Given the description of an element on the screen output the (x, y) to click on. 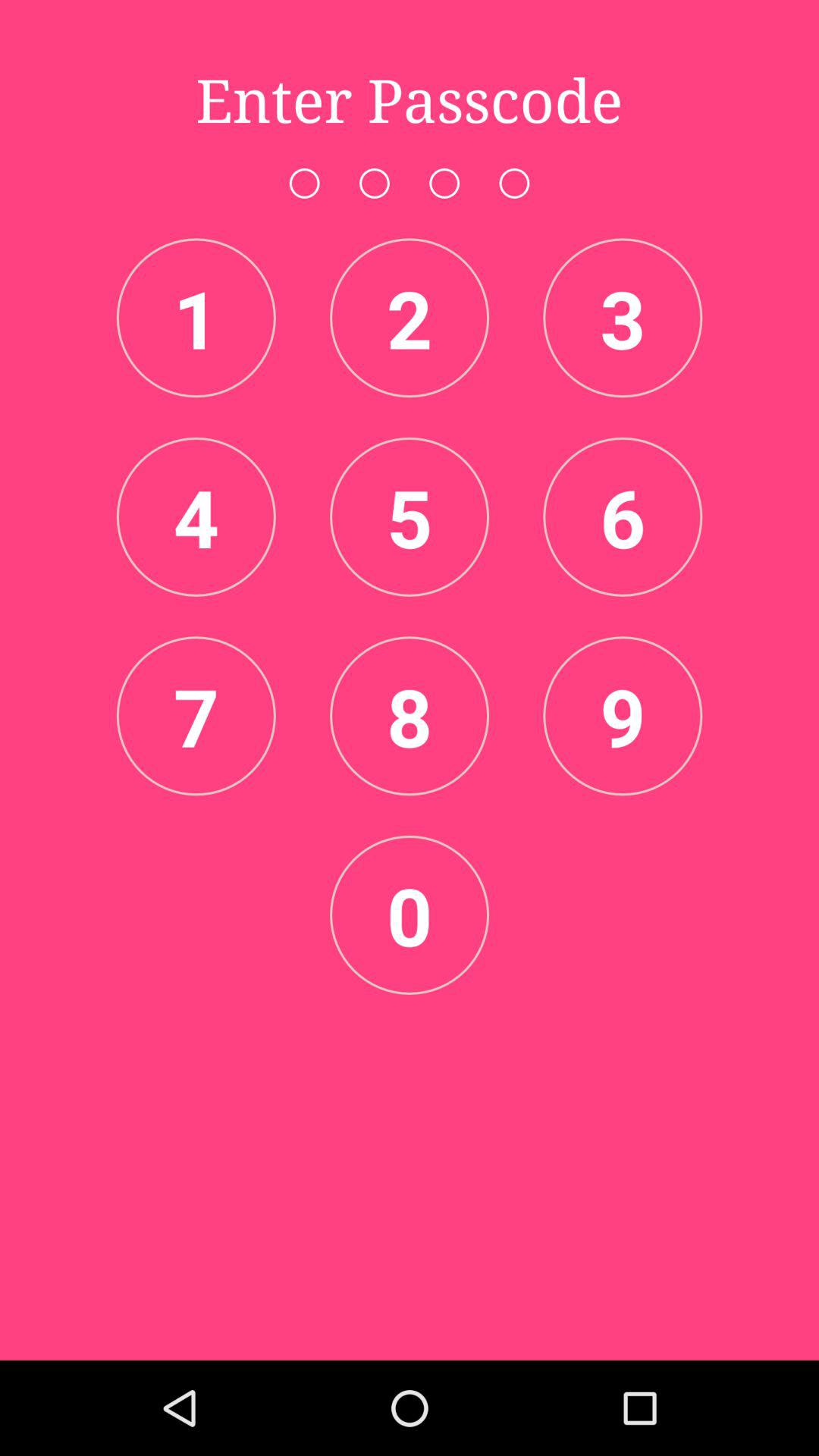
jump until 0 (409, 914)
